Given the description of an element on the screen output the (x, y) to click on. 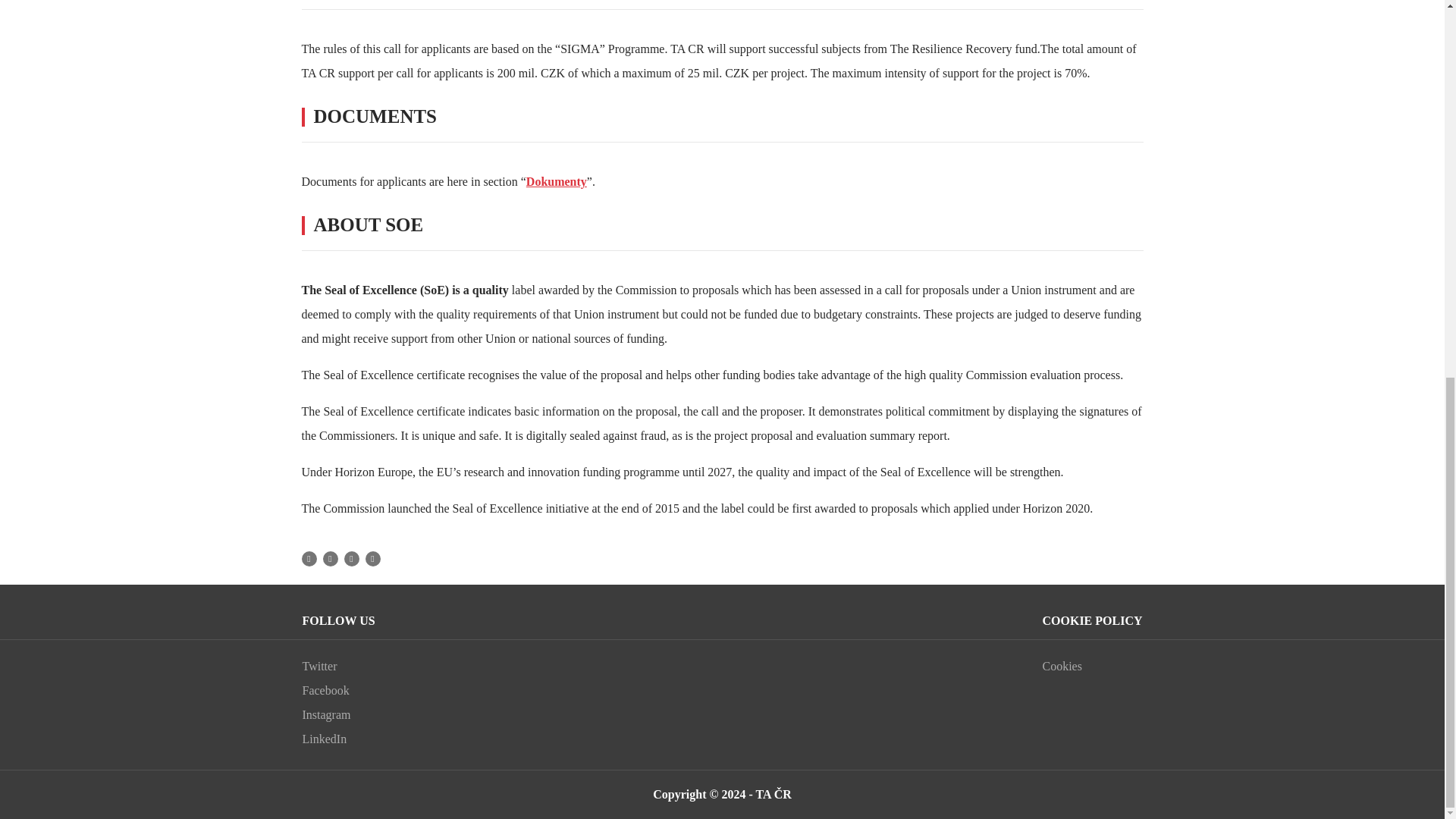
Twitter (337, 666)
Dokumenty (555, 181)
Facebook (337, 690)
Twitter (330, 558)
Print (373, 558)
Instagram (337, 714)
LinkedIn (337, 739)
Cookies (1091, 666)
LinkedIn (351, 558)
